Given the description of an element on the screen output the (x, y) to click on. 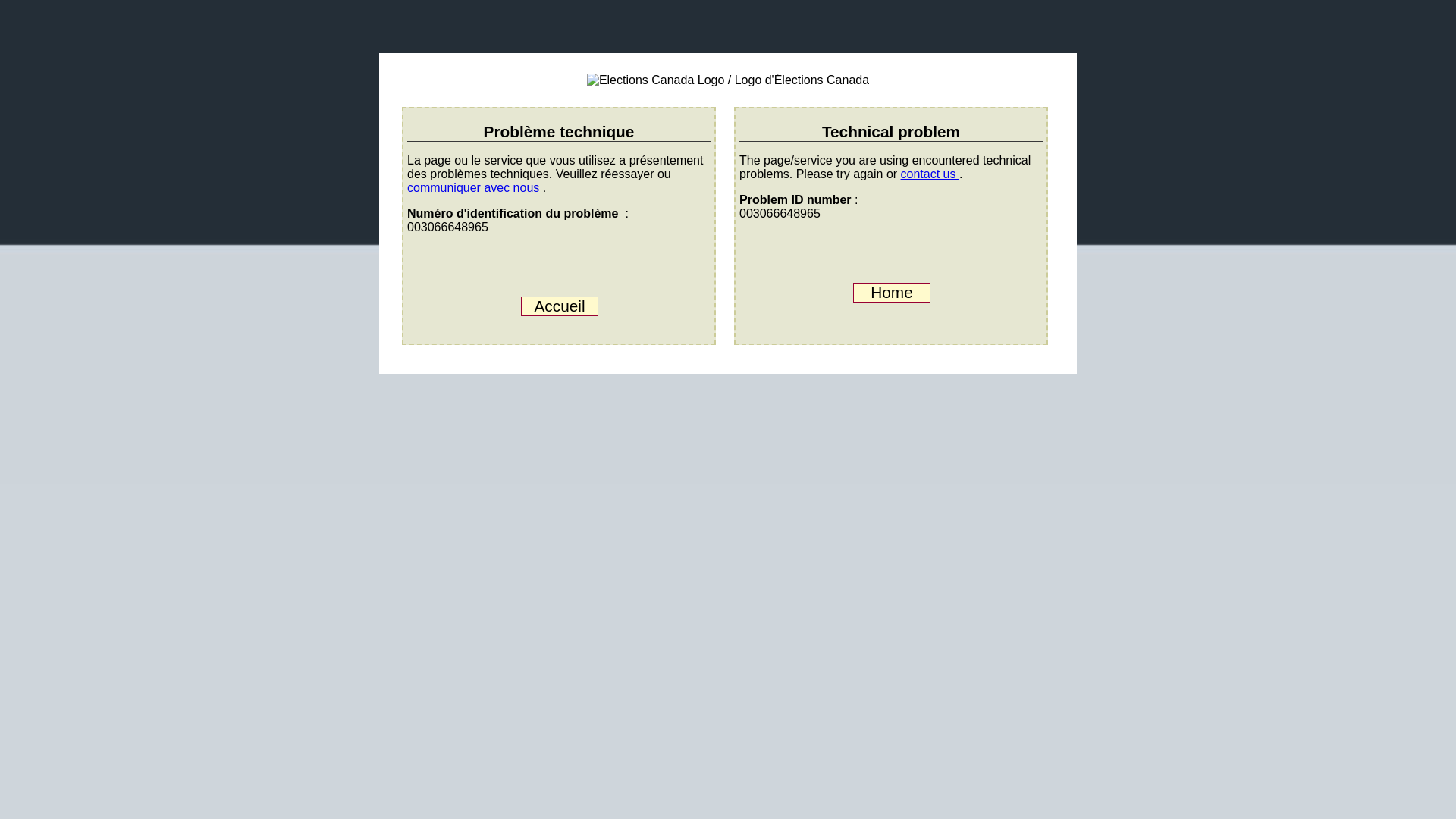
communiquer avec nous (475, 187)
Accueil (559, 306)
contact us (930, 173)
Home (891, 292)
